Given the description of an element on the screen output the (x, y) to click on. 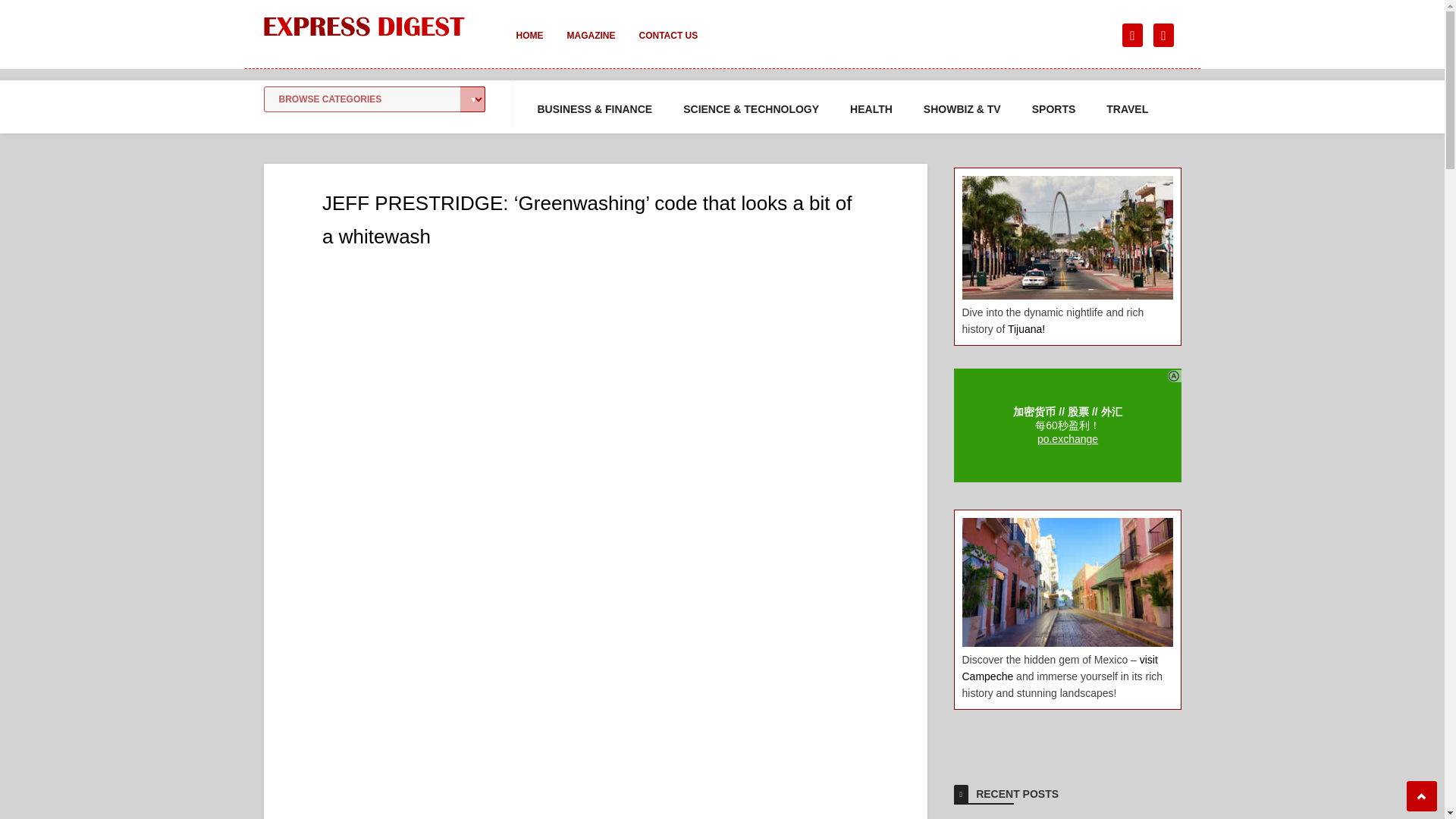
CONTACT US (667, 45)
SPORTS (1053, 109)
MAGAZINE (590, 45)
HEALTH (871, 109)
Tijuana! (1026, 328)
visit Campeche (1058, 667)
TRAVEL (1127, 109)
